Given the description of an element on the screen output the (x, y) to click on. 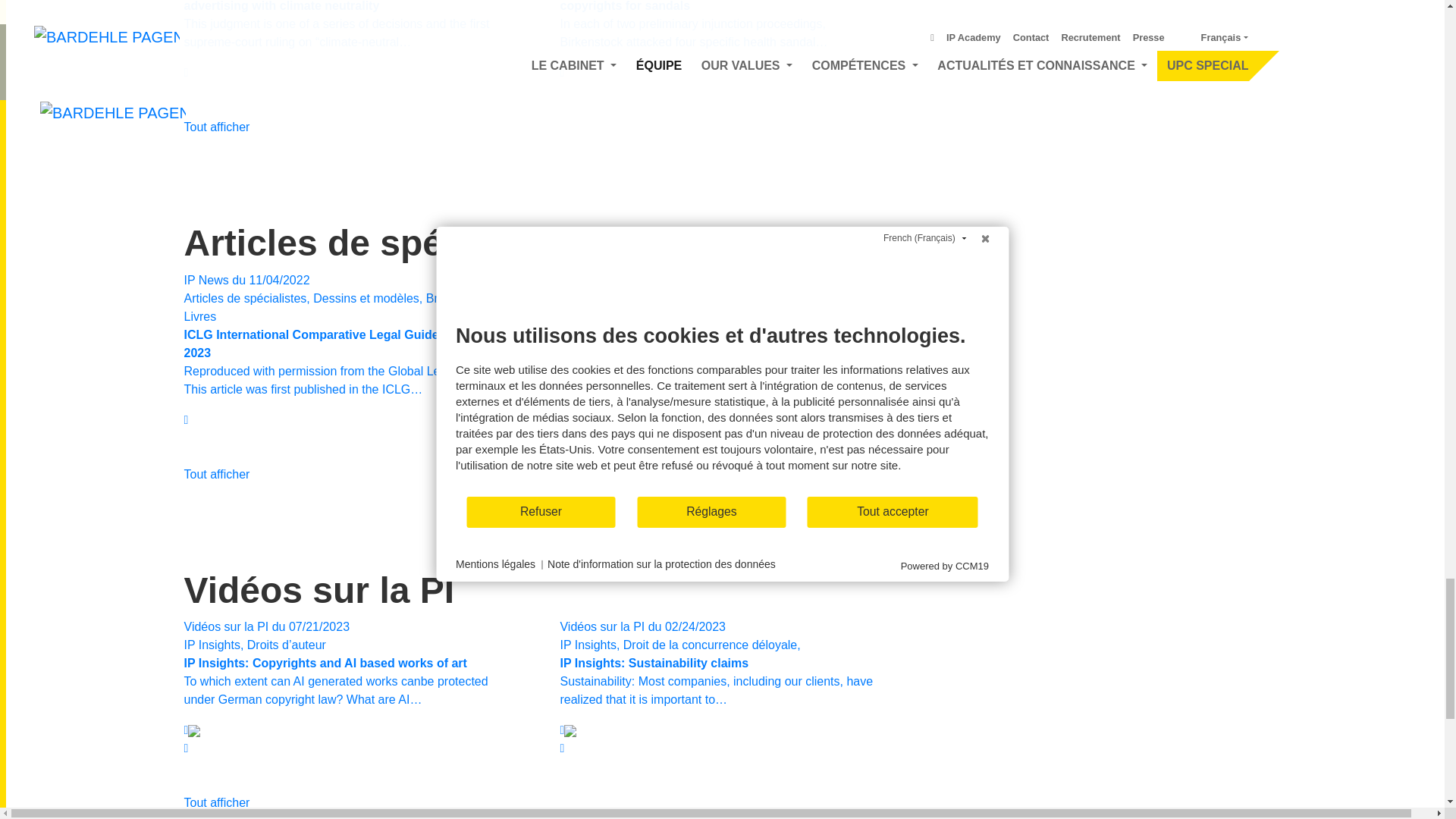
ICLG International Comparative Legal Guide - Designs 2023 (348, 348)
